Given the description of an element on the screen output the (x, y) to click on. 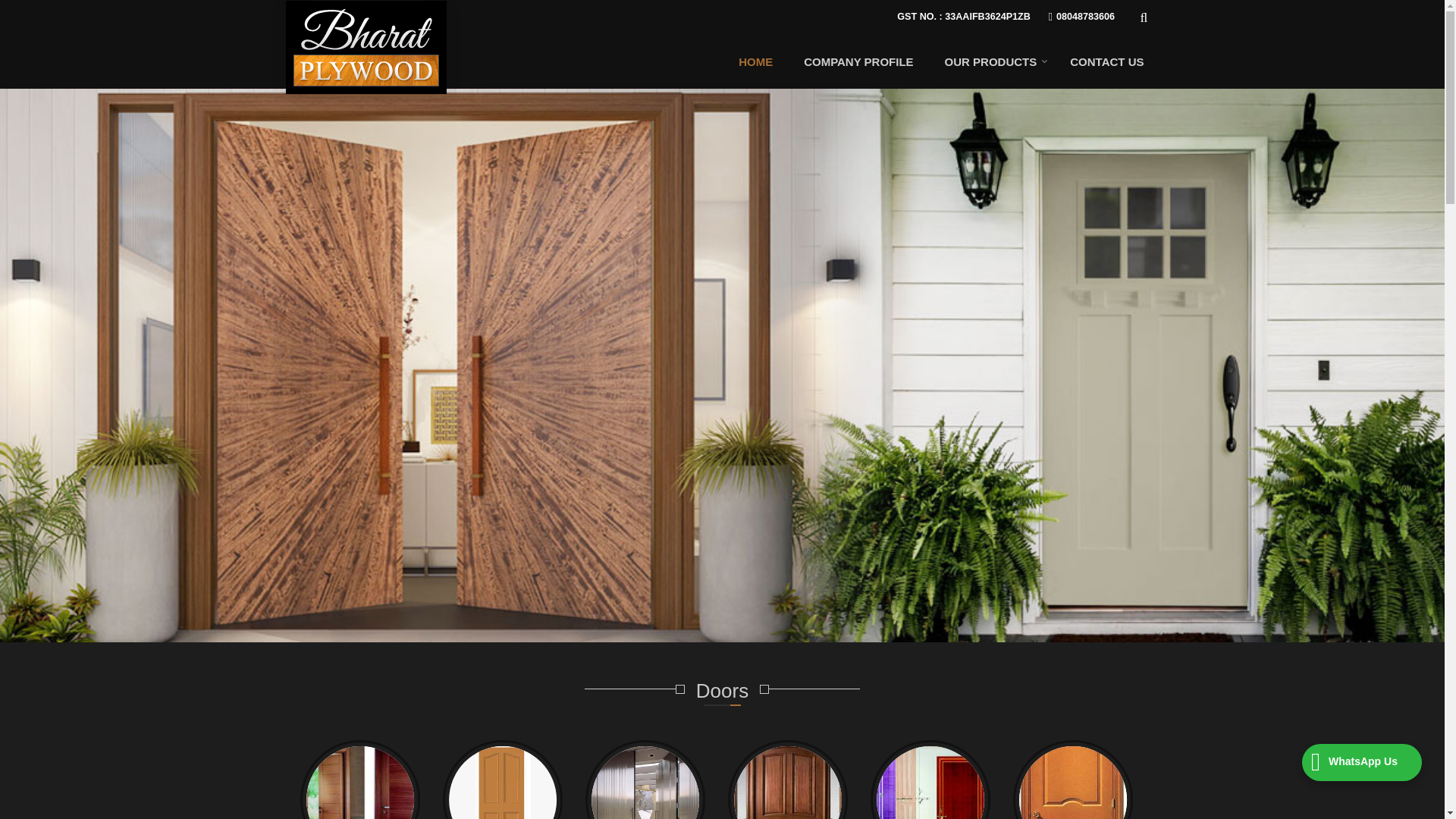
Our Products (992, 60)
Home (755, 60)
COMPANY PROFILE (858, 60)
CONTACT US (1106, 60)
OUR PRODUCTS (992, 60)
HOME (755, 60)
Company Profile (858, 60)
Bharat Plywood (365, 47)
